Given the description of an element on the screen output the (x, y) to click on. 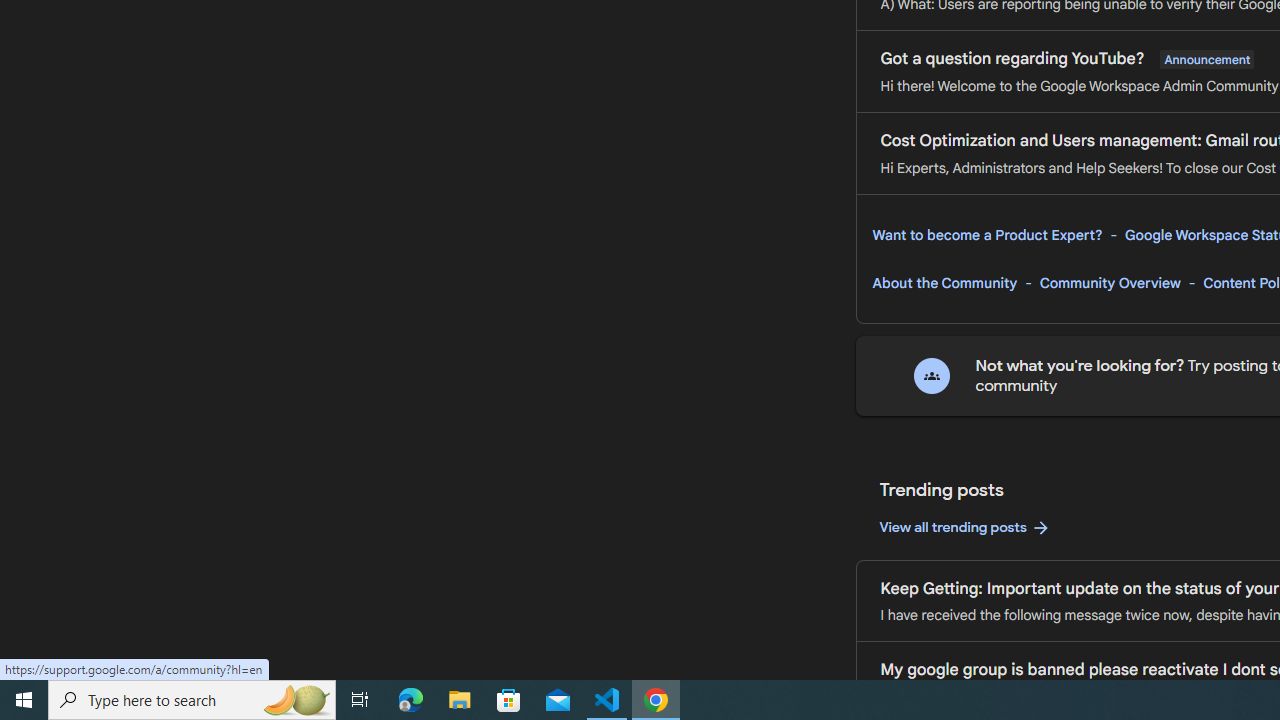
Community Overview (1110, 283)
View all trending posts (964, 527)
About the Community (944, 283)
Want to become a Product Expert? (987, 235)
